Given the description of an element on the screen output the (x, y) to click on. 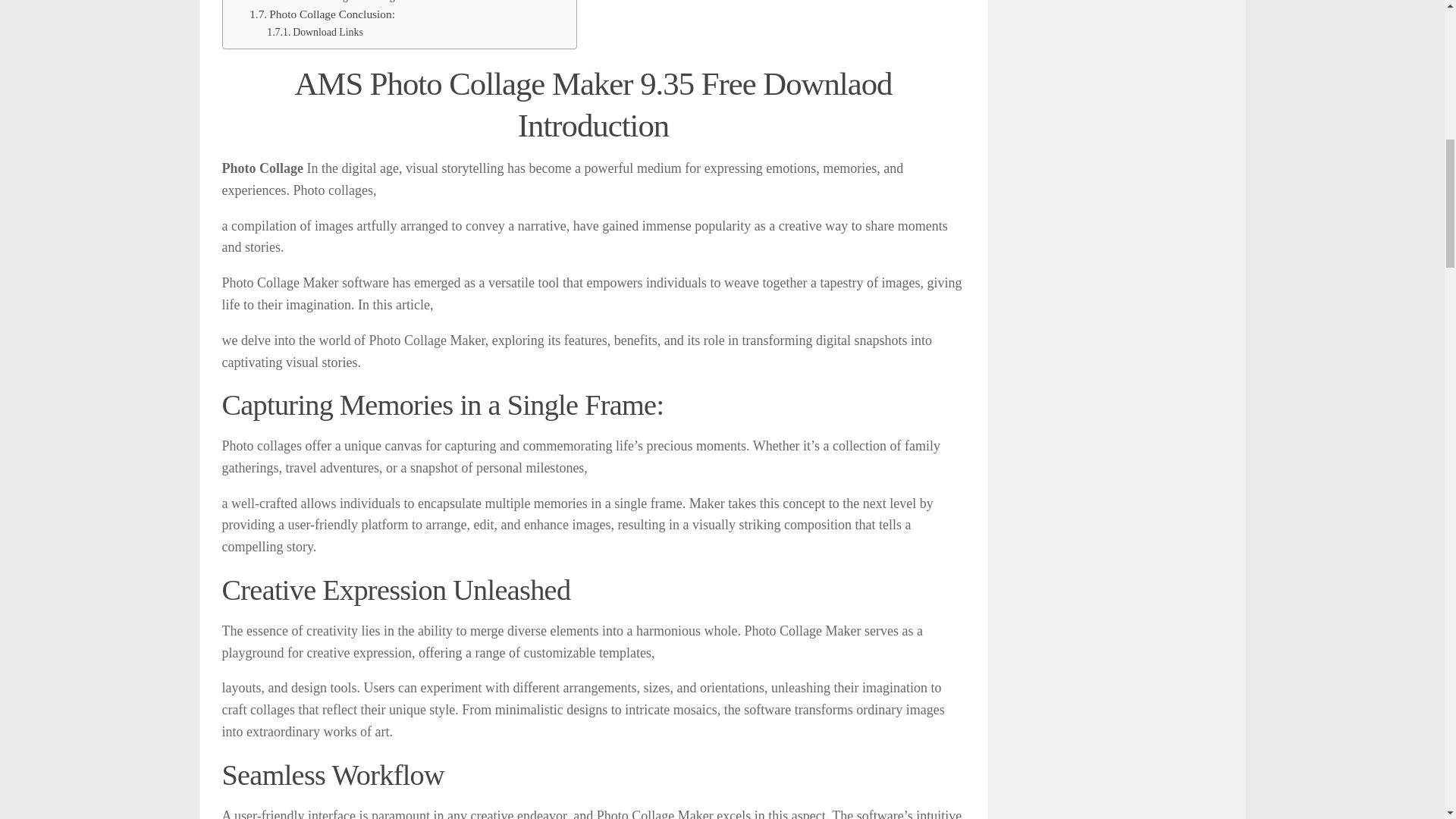
Photo Collage Fostering Connection and Communication (400, 2)
Photo Collage Conclusion: (321, 14)
Download Links (314, 32)
